Given the description of an element on the screen output the (x, y) to click on. 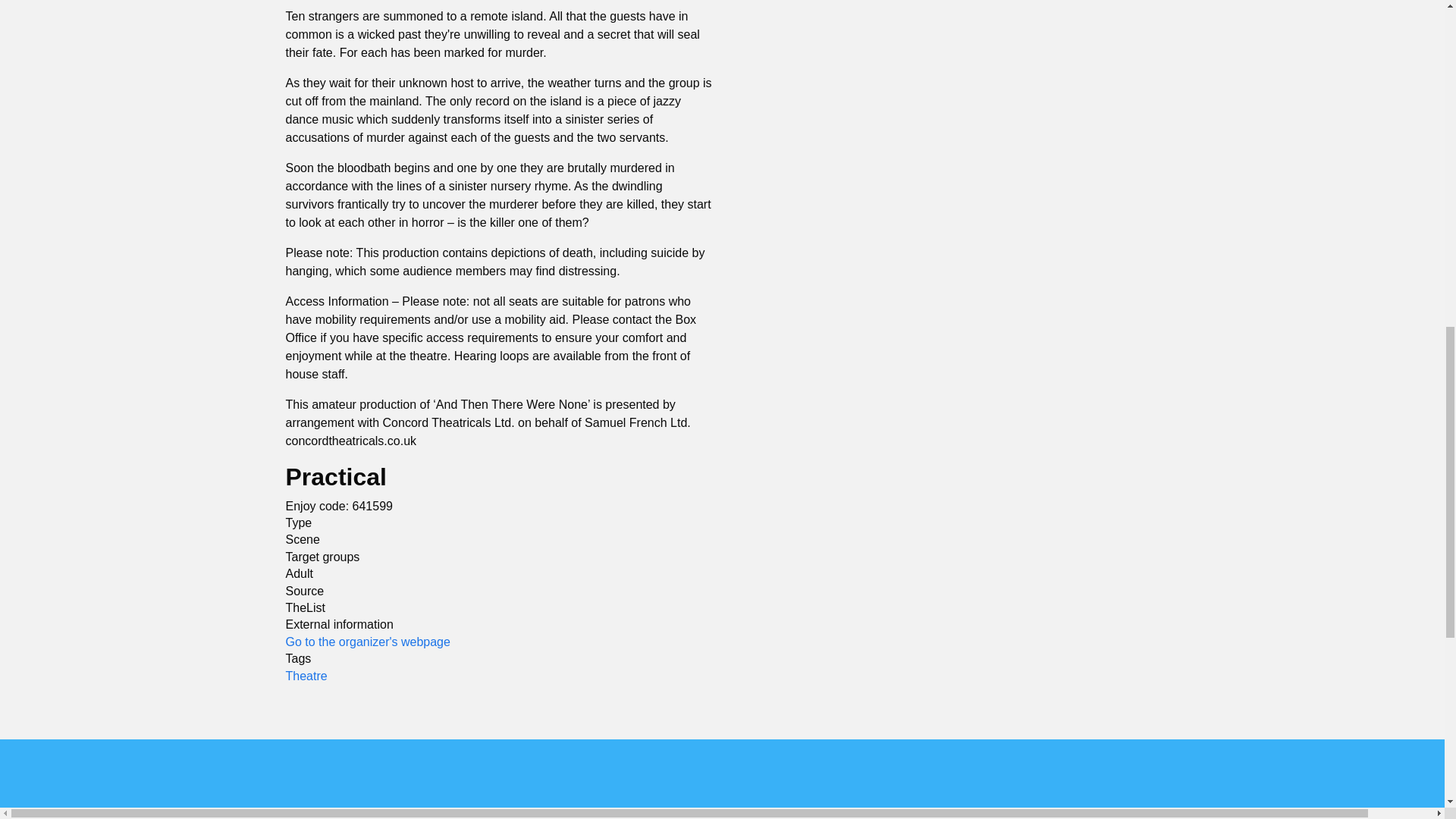
Activities tagged withTheatre (305, 675)
Theatre (305, 675)
Go to the organizer's webpage (367, 641)
